Given the description of an element on the screen output the (x, y) to click on. 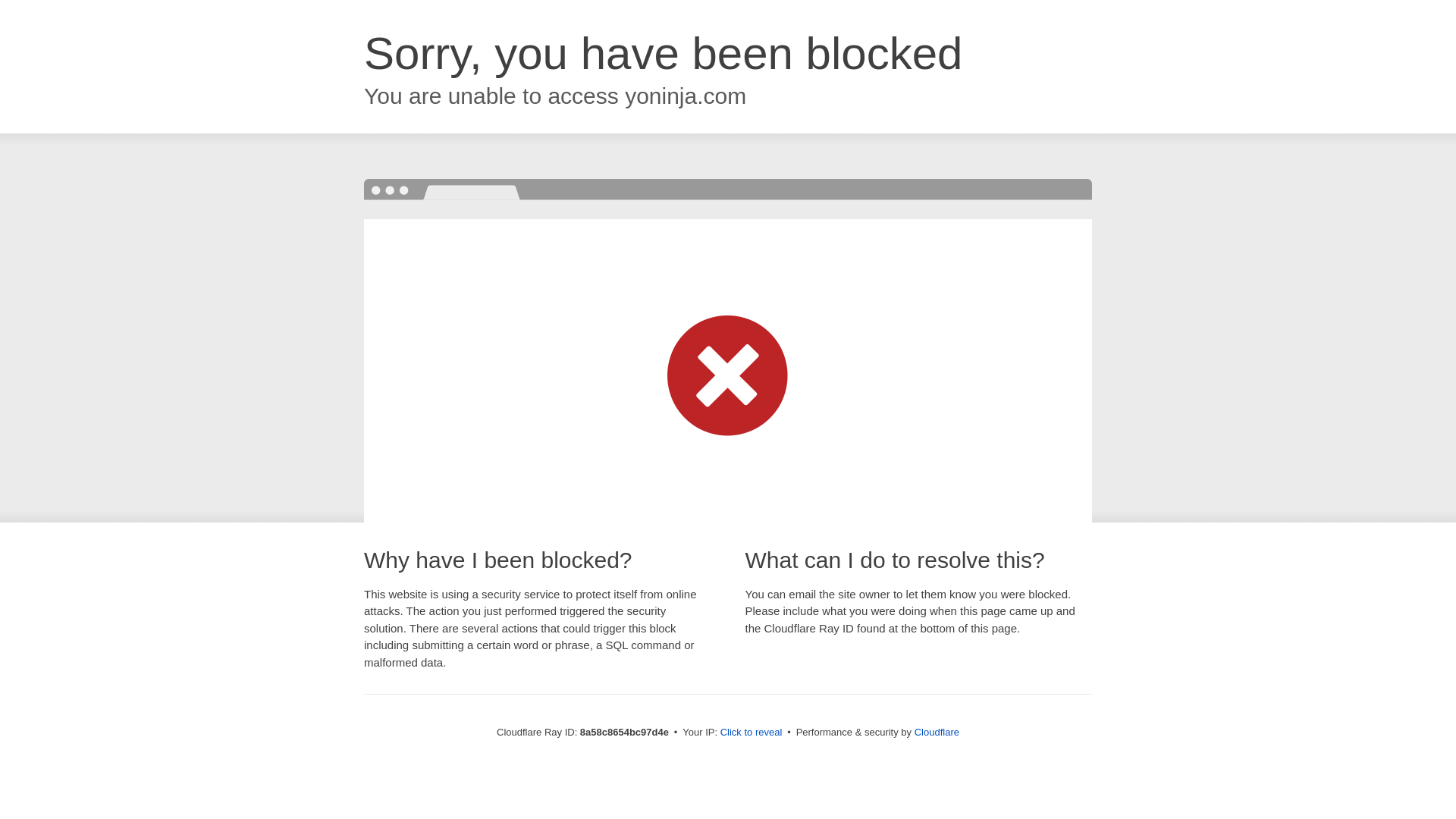
Click to reveal (751, 732)
Cloudflare (936, 731)
